Given the description of an element on the screen output the (x, y) to click on. 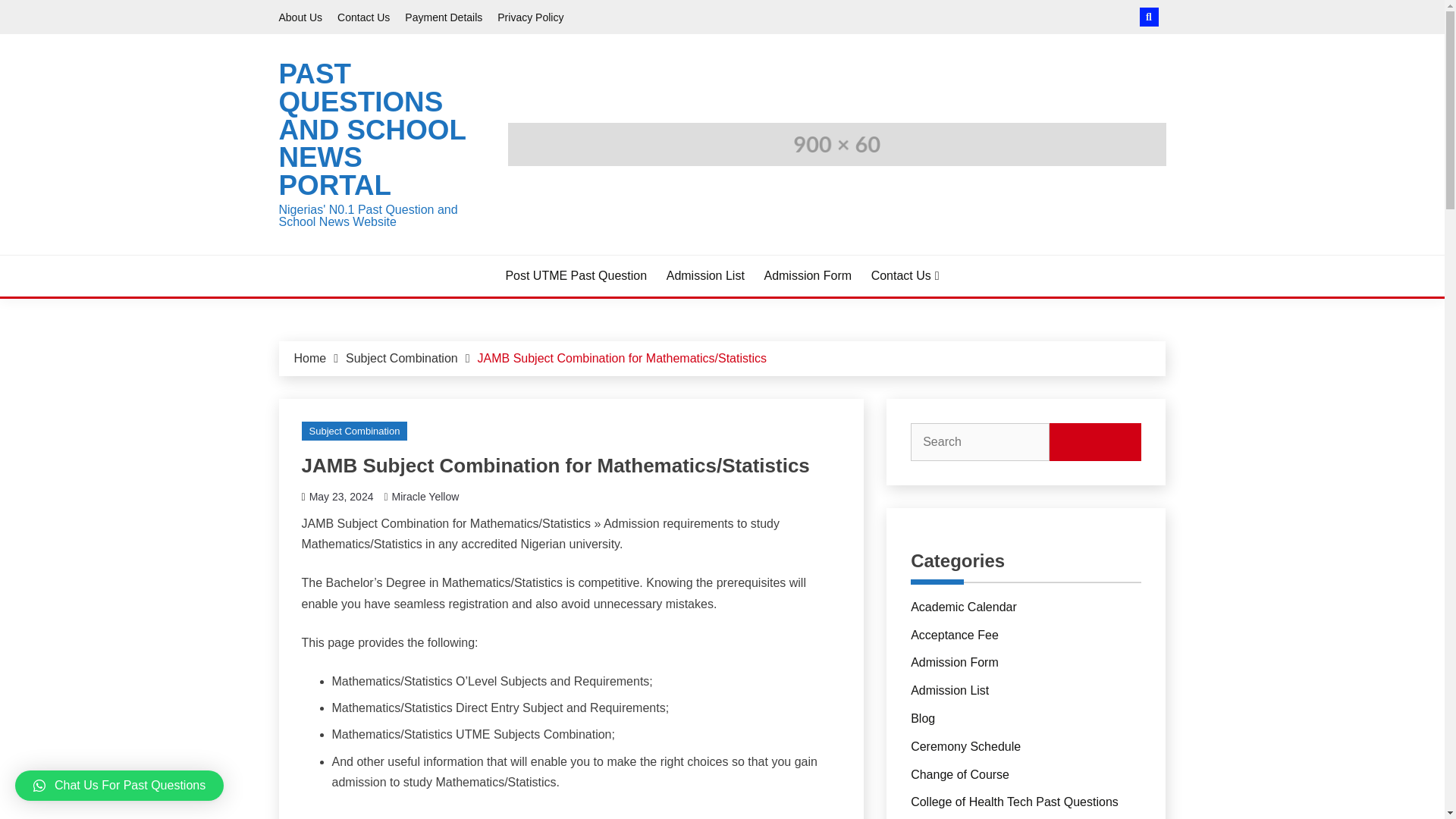
Subject Combination (354, 431)
May 23, 2024 (341, 496)
Privacy Policy (530, 16)
Miracle Yellow (425, 496)
Contact Us (904, 275)
Post UTME Past Question (575, 275)
Search (832, 18)
About Us (301, 16)
Payment Details (442, 16)
Home (310, 358)
